Given the description of an element on the screen output the (x, y) to click on. 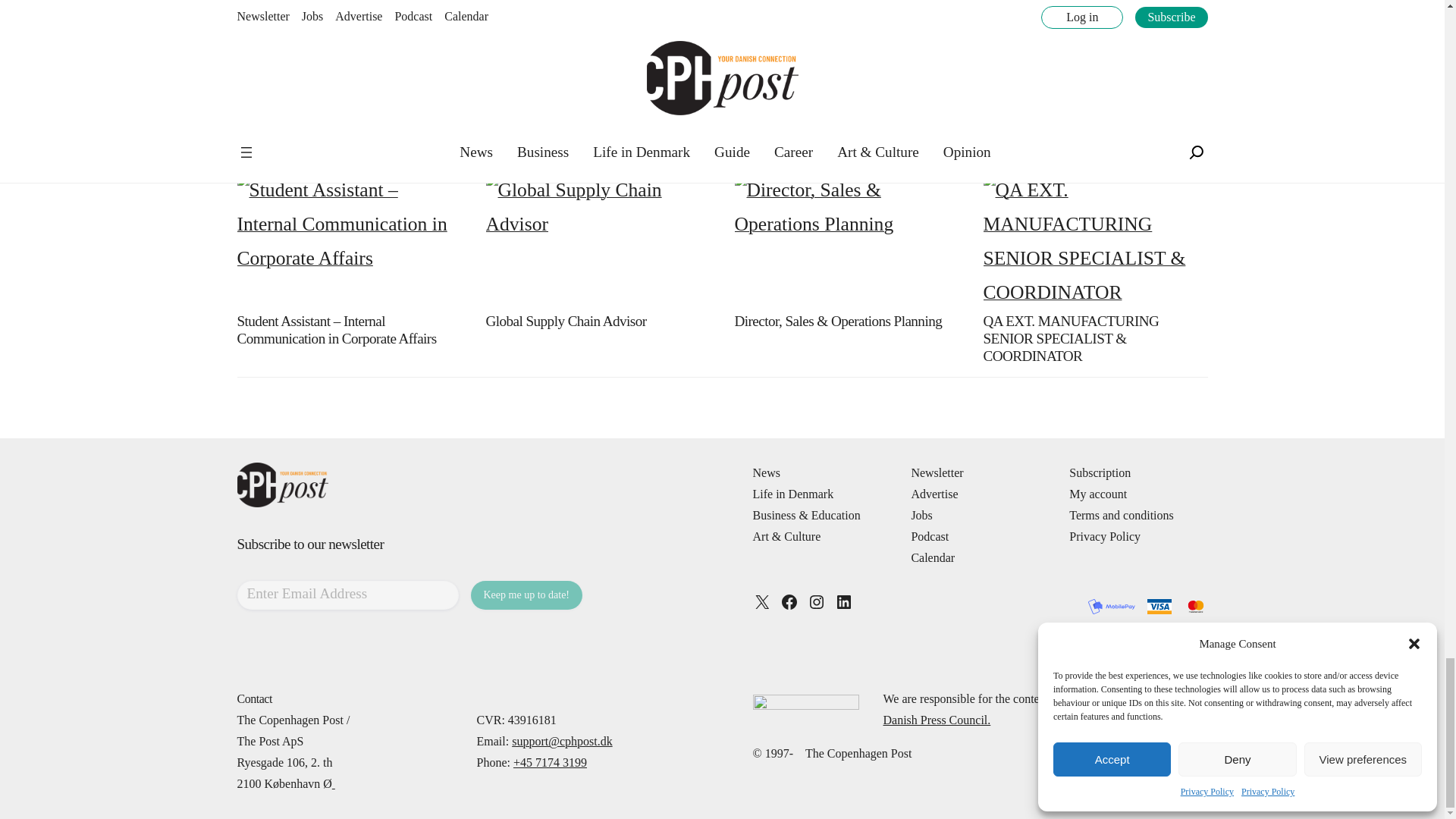
Keep me up to date! (526, 594)
